Given the description of an element on the screen output the (x, y) to click on. 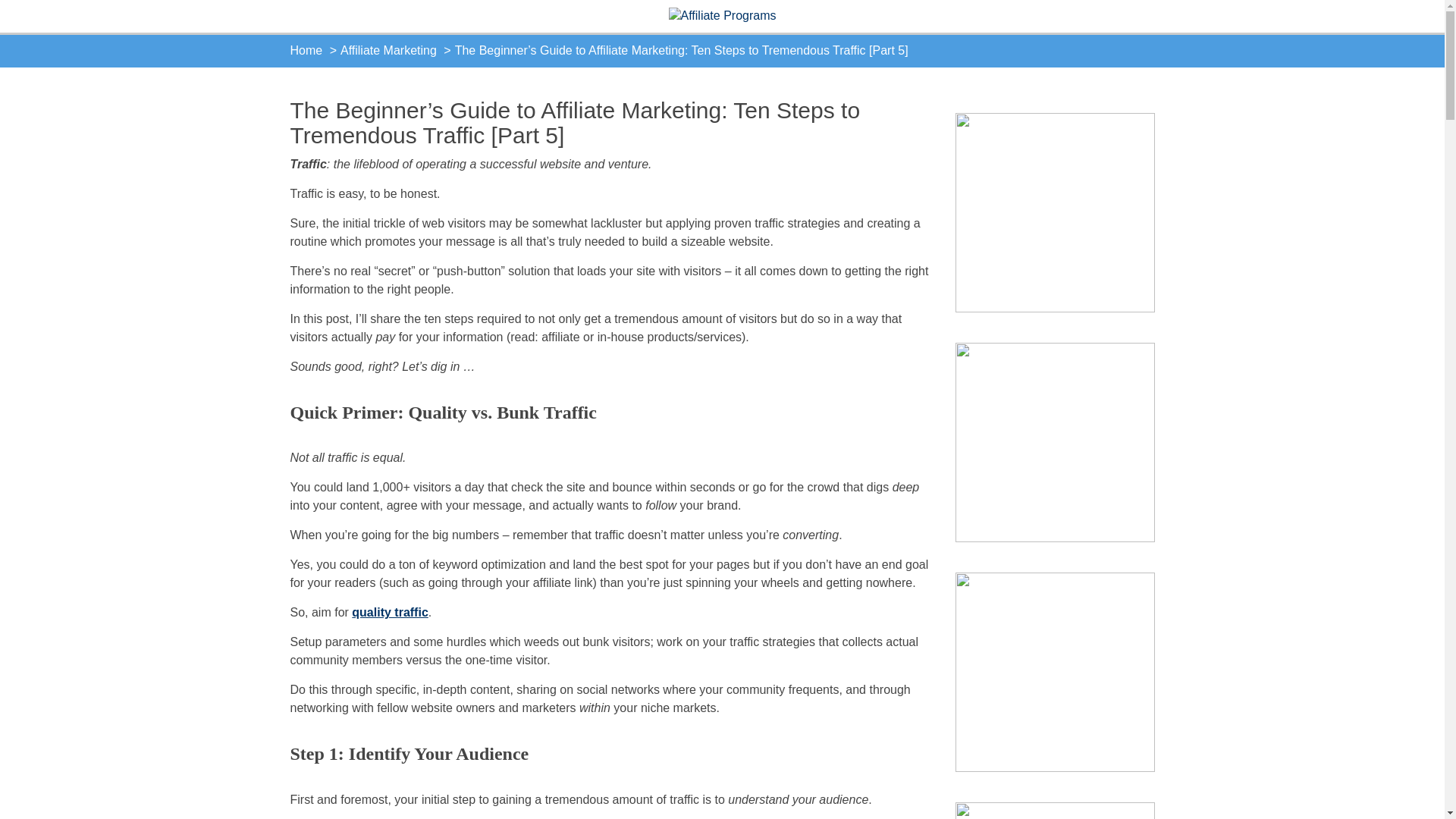
quality traffic (390, 612)
Affiliate Marketing (388, 50)
Home (305, 50)
